Given the description of an element on the screen output the (x, y) to click on. 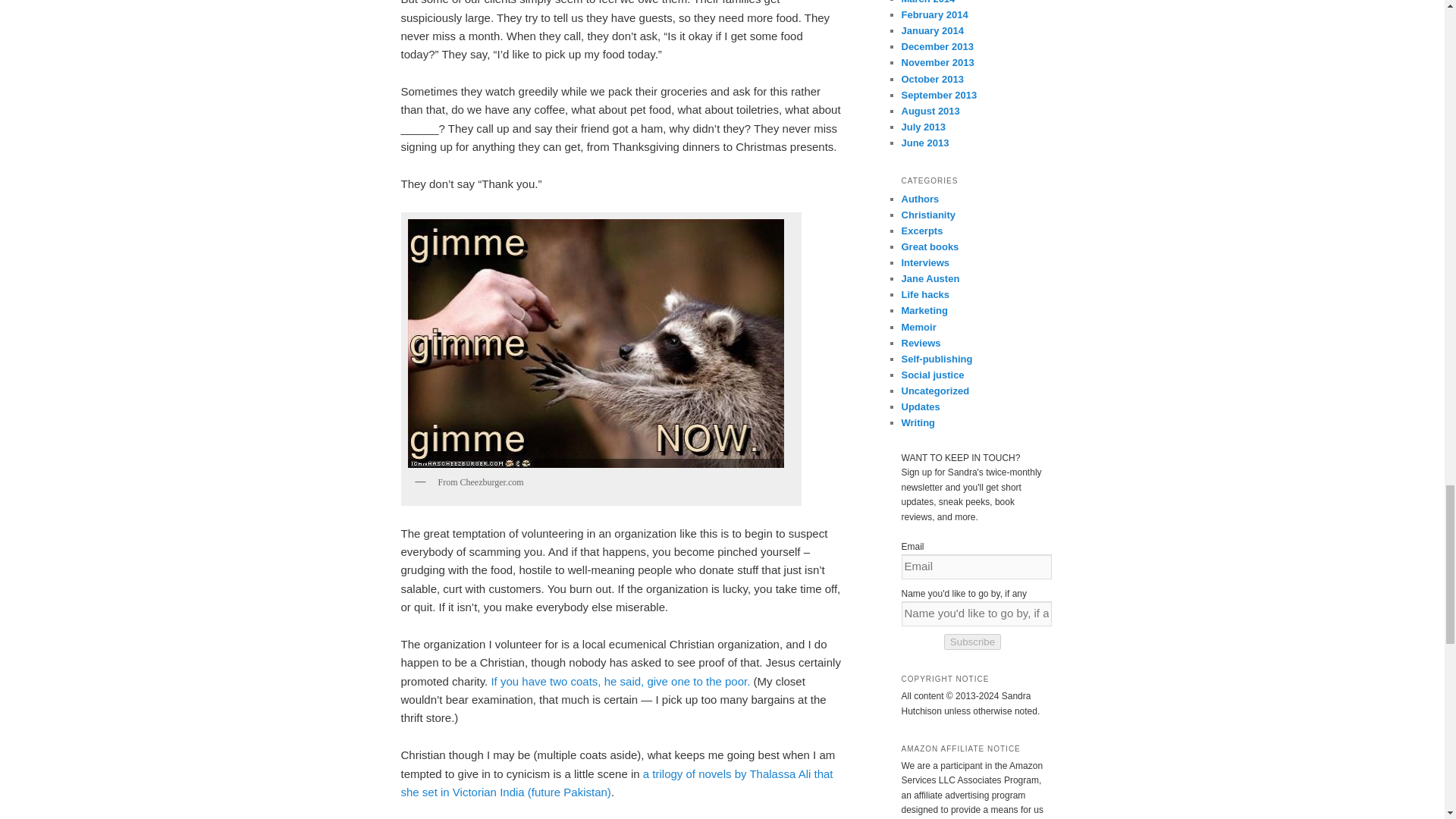
gimme gimme gimme NOW. (595, 343)
Luke 3:11 (619, 680)
Thalassa Ali Amazon link (616, 782)
